Given the description of an element on the screen output the (x, y) to click on. 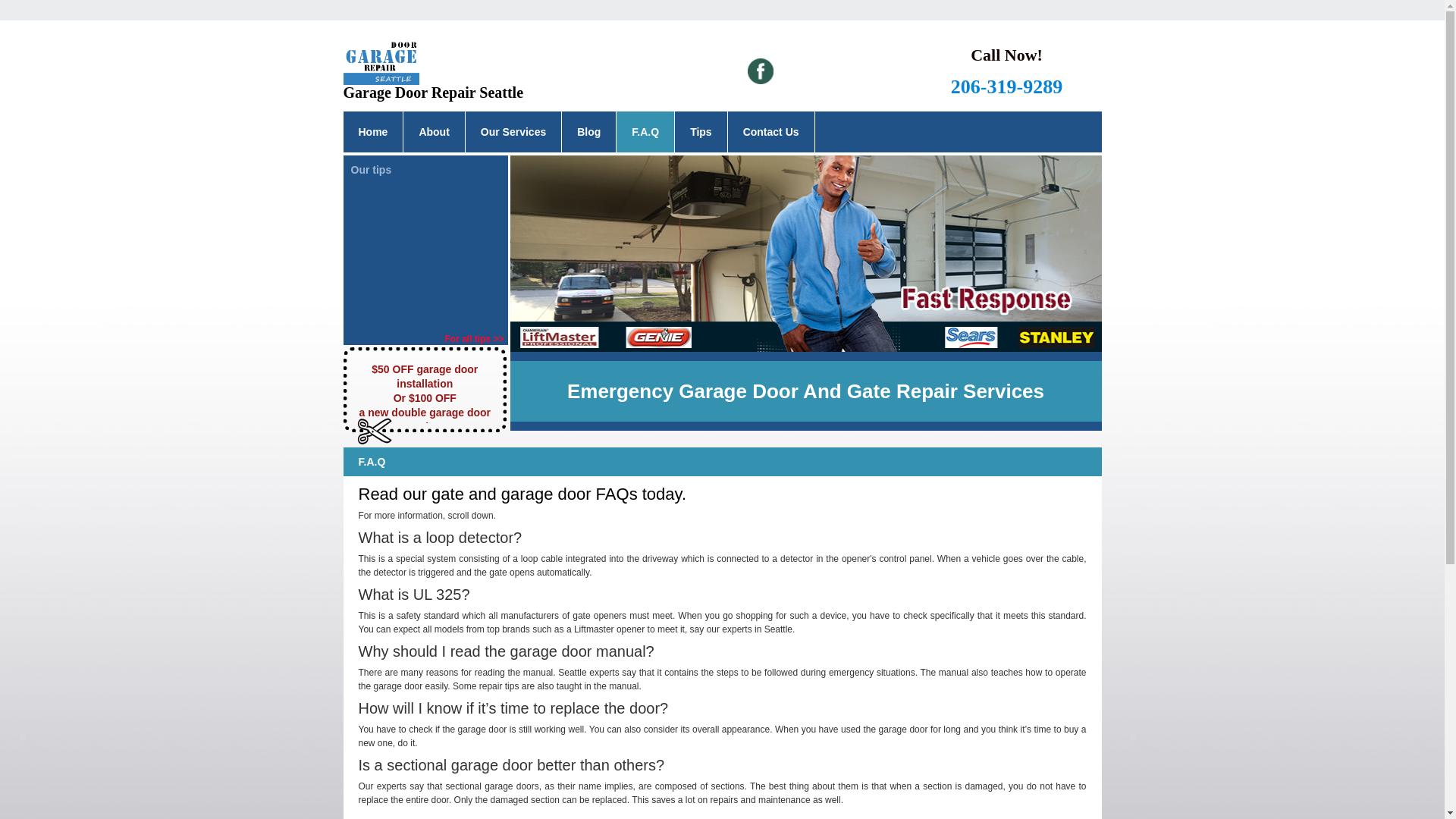
Facebook (760, 71)
Contact Us (770, 131)
F.A.Q (644, 131)
Home (372, 131)
Tips (700, 131)
Facebook (760, 71)
About (433, 131)
Our Services (512, 131)
Blog (588, 131)
